Given the description of an element on the screen output the (x, y) to click on. 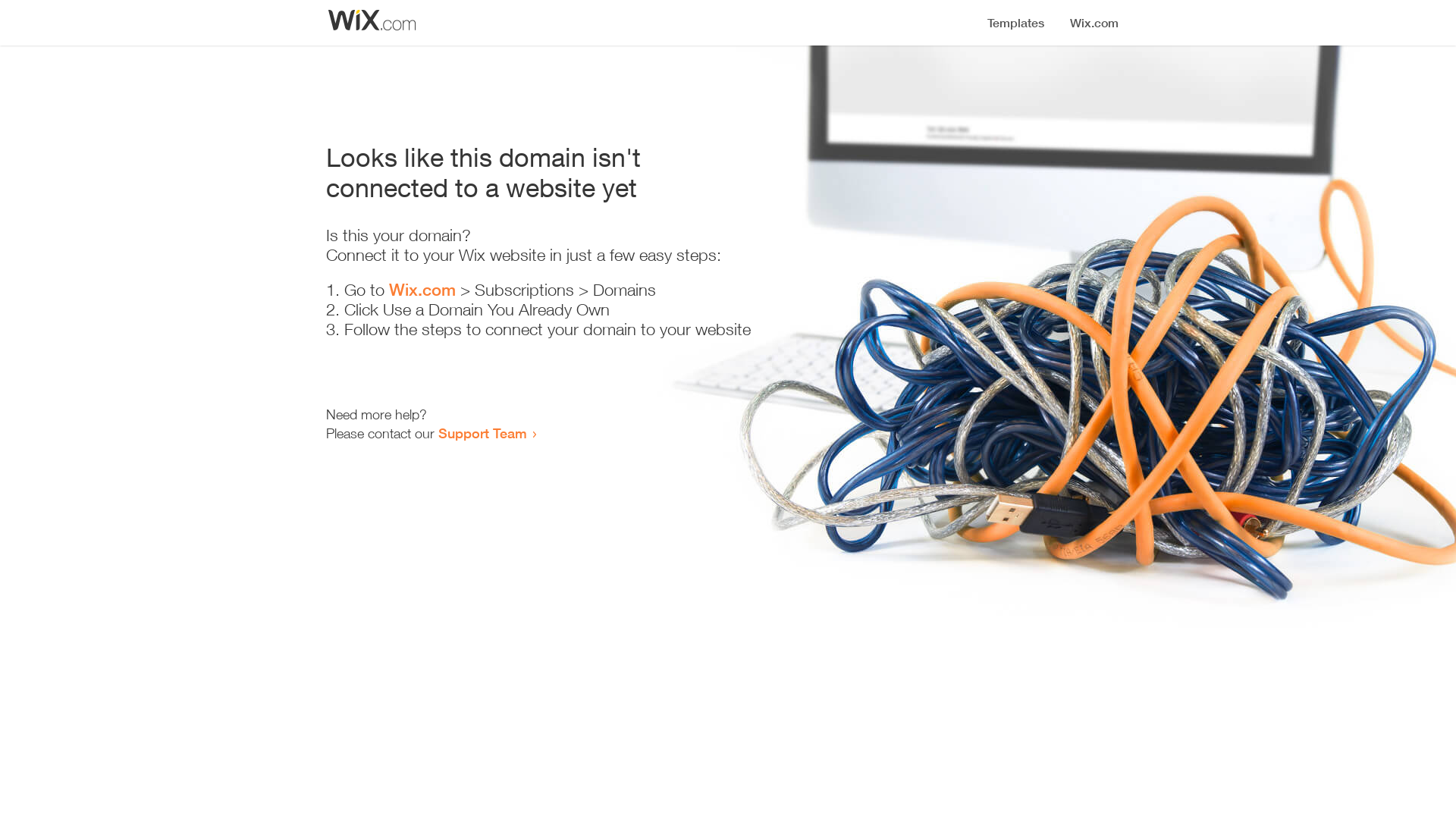
Wix.com Element type: text (422, 289)
Support Team Element type: text (482, 432)
